Given the description of an element on the screen output the (x, y) to click on. 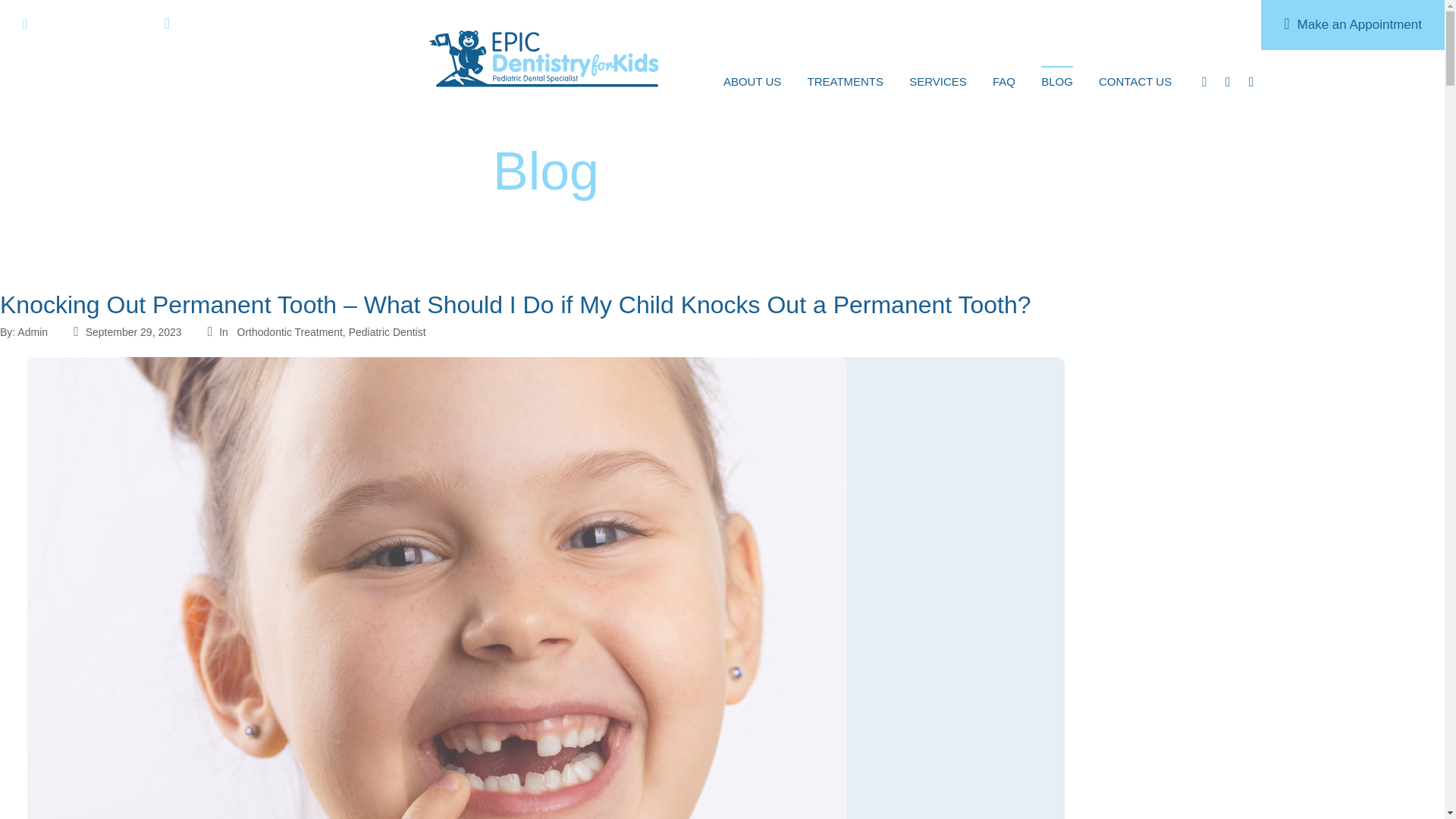
ABOUT US (751, 81)
BLOG (1057, 81)
TREATMENTS (844, 81)
FAQ (1003, 81)
SERVICES (937, 81)
CONTACT US (1135, 81)
720-459-4501 (69, 24)
